Given the description of an element on the screen output the (x, y) to click on. 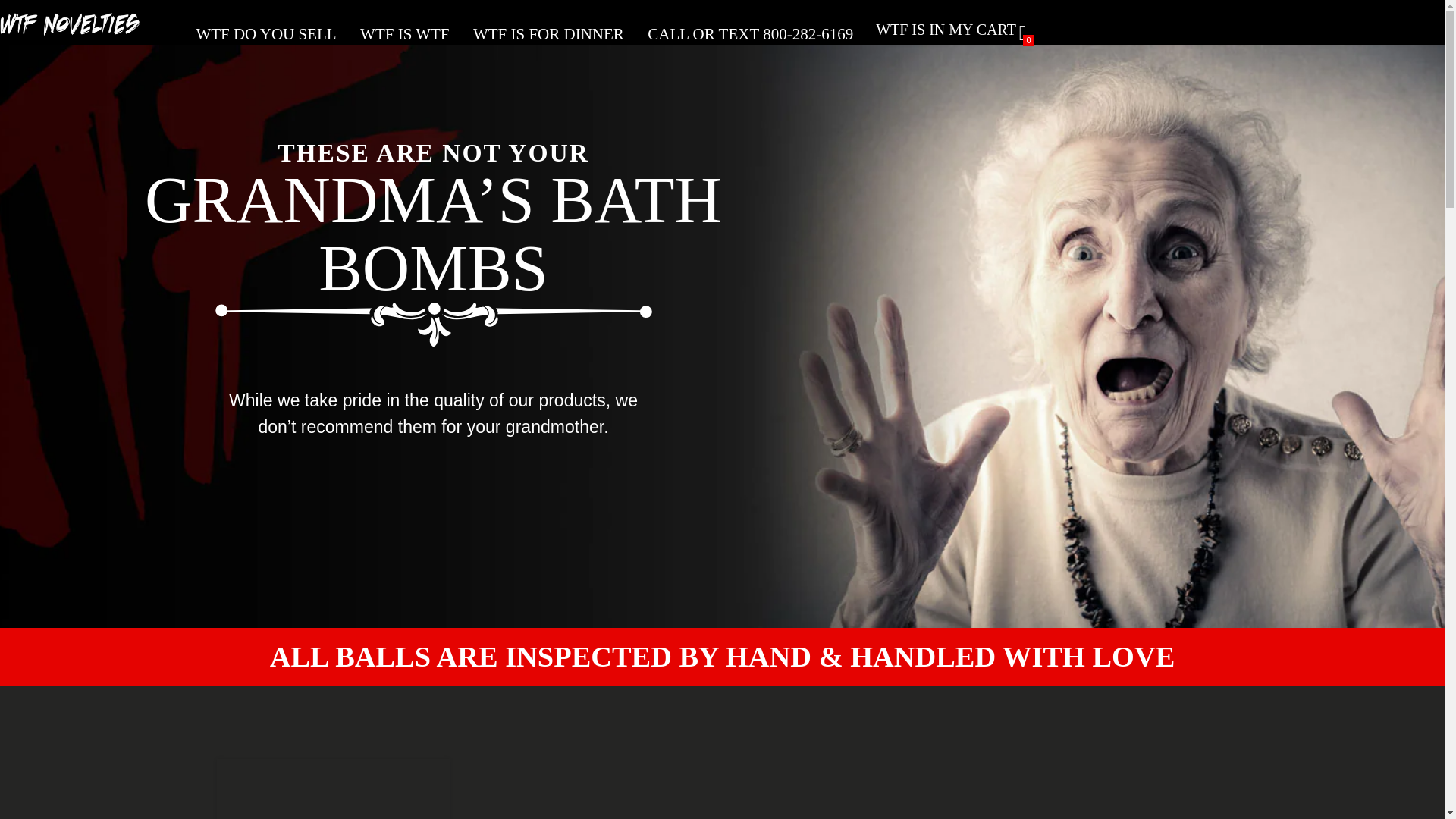
WTF Novelties (76, 29)
